Given the description of an element on the screen output the (x, y) to click on. 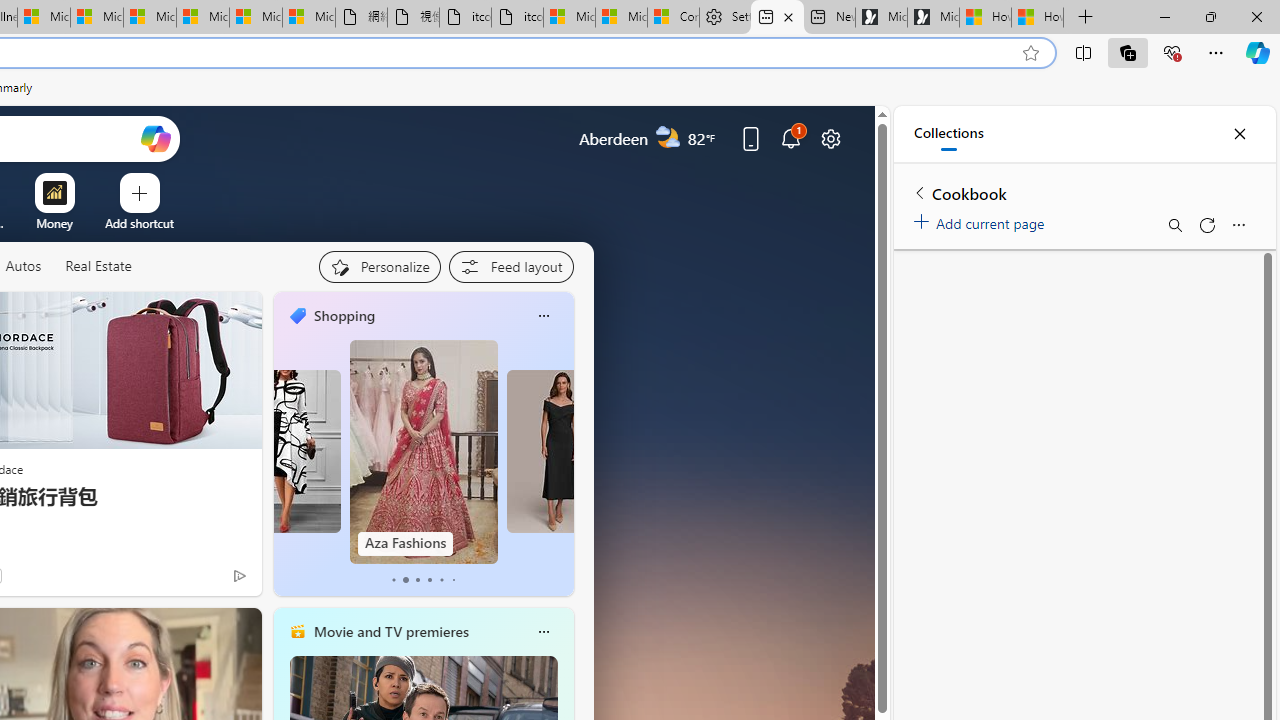
Feed settings (510, 266)
itconcepthk.com/projector_solutions.mp4 (516, 17)
Add a site (139, 223)
tab-0 (392, 579)
Personalize your feed" (379, 266)
How to Use a TV as a Computer Monitor (1037, 17)
